Given the description of an element on the screen output the (x, y) to click on. 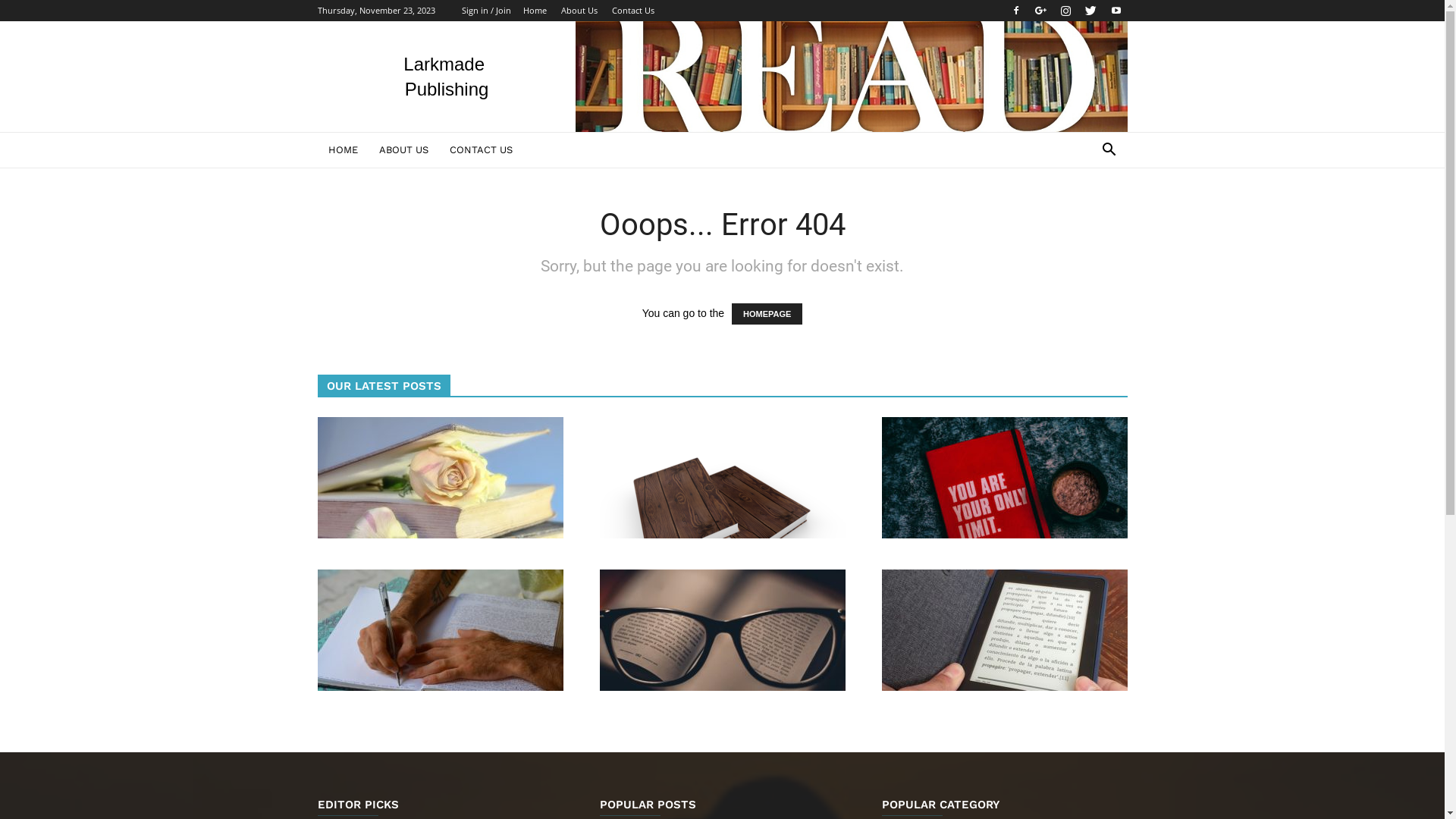
Google+ Element type: hover (1040, 10)
Contact Us Element type: text (632, 9)
HOMEPAGE Element type: text (766, 313)
Instagram Element type: hover (1065, 10)
CONTACT US Element type: text (480, 149)
ABOUT US Element type: text (403, 149)
Youtube Element type: hover (1115, 10)
About Us Element type: text (579, 9)
HOME Element type: text (341, 149)
Sign in / Join Element type: text (485, 9)
Search Element type: text (1085, 210)
Facebook Element type: hover (1015, 10)
Home Element type: text (534, 9)
Twitter Element type: hover (1090, 10)
